Given the description of an element on the screen output the (x, y) to click on. 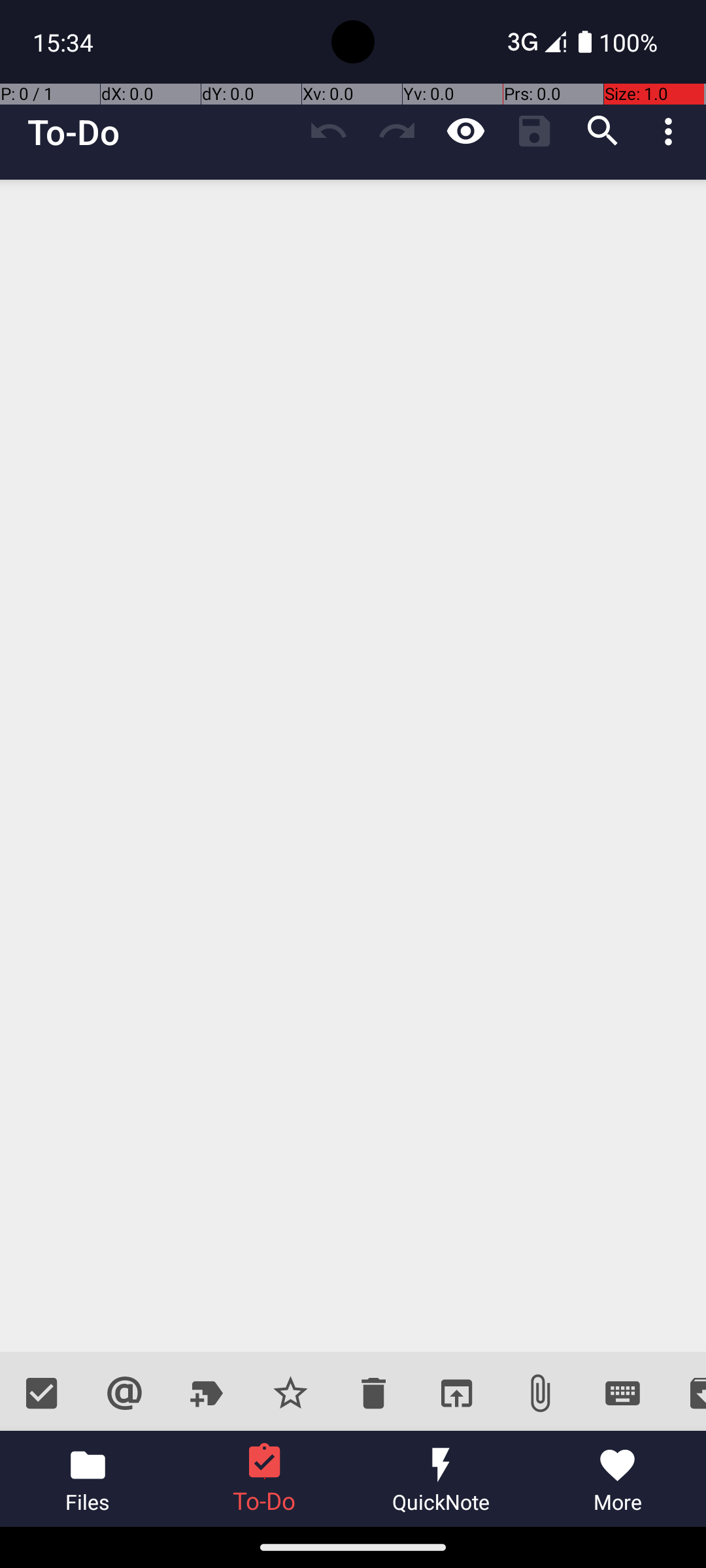
To-Do Element type: android.widget.TextView (73, 131)
Undo Element type: android.widget.TextView (328, 131)
Redo Element type: android.widget.TextView (396, 131)
View mode Element type: android.widget.TextView (465, 131)
QuickNote Element type: android.widget.FrameLayout (441, 1478)
More Element type: android.widget.FrameLayout (617, 1478)
Toggle done Element type: android.widget.ImageView (41, 1392)
Add context Element type: android.widget.ImageView (124, 1392)
Add project Element type: android.widget.ImageView (207, 1392)
Priority Element type: android.widget.ImageView (290, 1392)
Delete lines Element type: android.widget.ImageView (373, 1392)
Open link Element type: android.widget.ImageView (456, 1392)
Attach Element type: android.widget.ImageView (539, 1392)
Special Key Element type: android.widget.ImageView (622, 1392)
Archive completed tasks Element type: android.widget.ImageView (685, 1392)
